Given the description of an element on the screen output the (x, y) to click on. 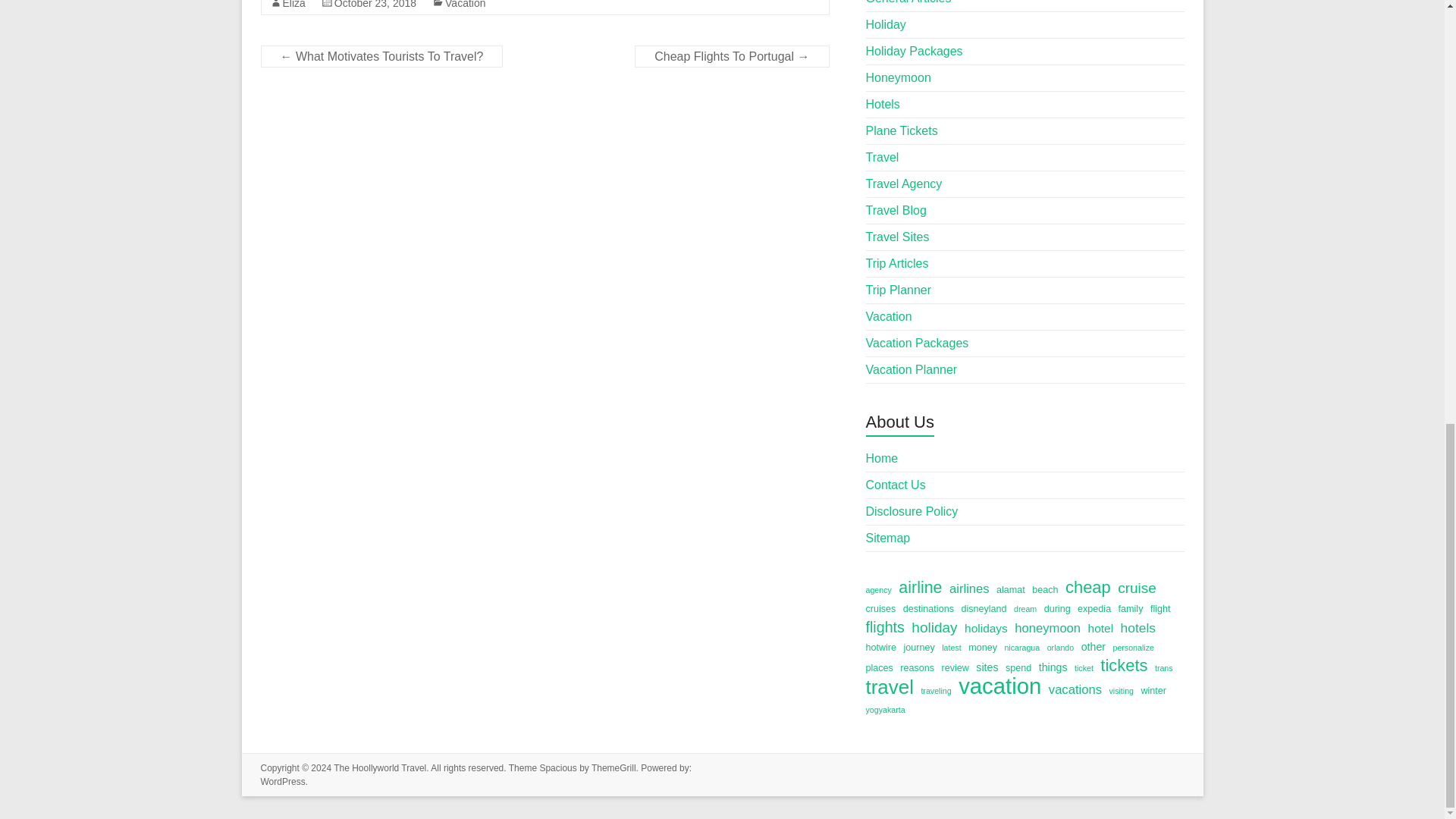
WordPress (282, 781)
Vacation (464, 4)
12:06 am (375, 4)
The Hoollyworld Travel (379, 767)
Spacious (557, 767)
Eliza (293, 4)
October 23, 2018 (375, 4)
